Given the description of an element on the screen output the (x, y) to click on. 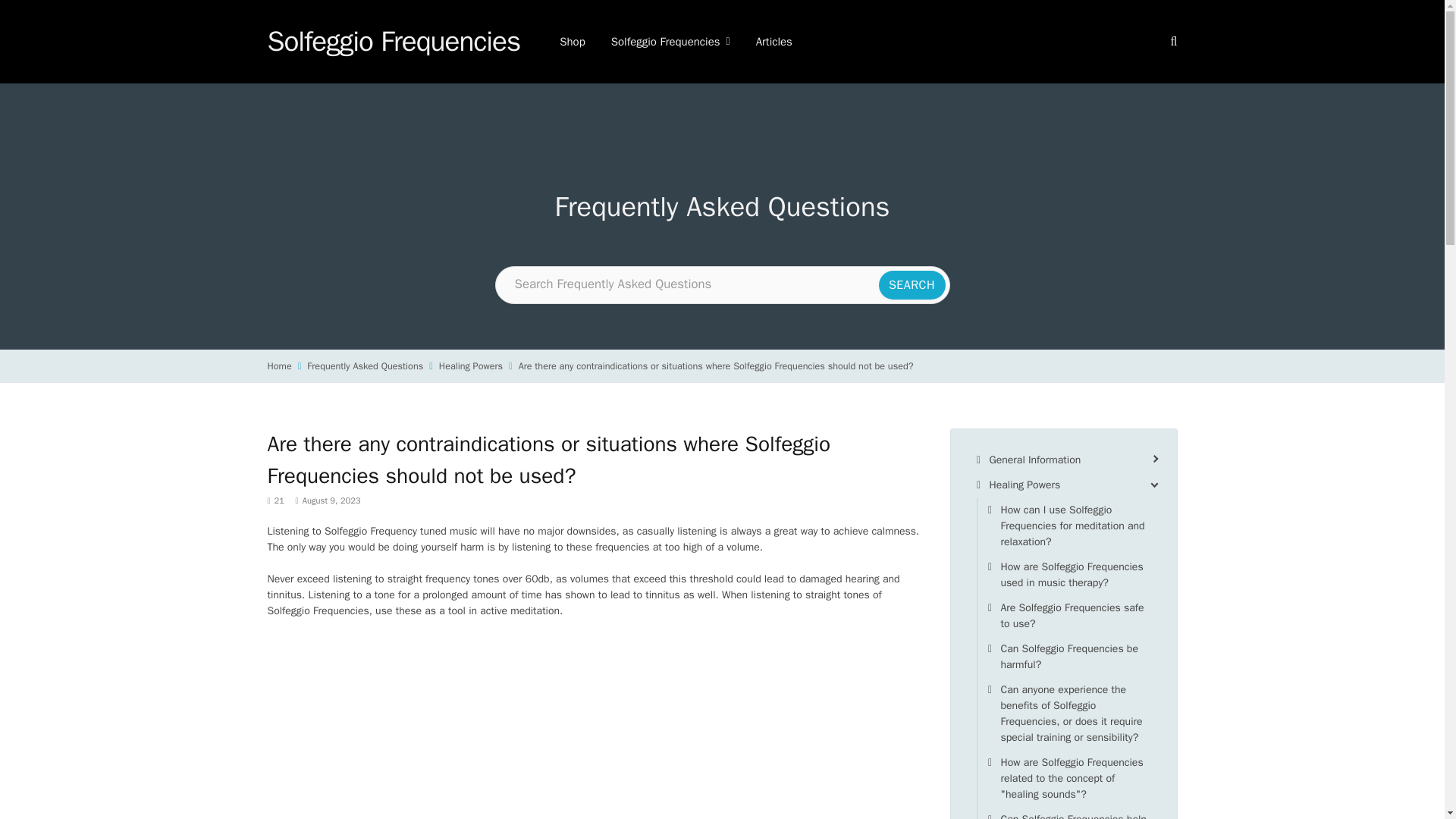
Solfeggio Frequencies (670, 41)
Home (278, 366)
Search (910, 285)
Search (1172, 41)
Solfeggio Frequencies (392, 41)
Search (910, 285)
Solfeggio Frequencies (392, 41)
Articles (773, 41)
Healing Powers (470, 366)
Shop (572, 41)
Frequently Asked Questions (365, 366)
